Given the description of an element on the screen output the (x, y) to click on. 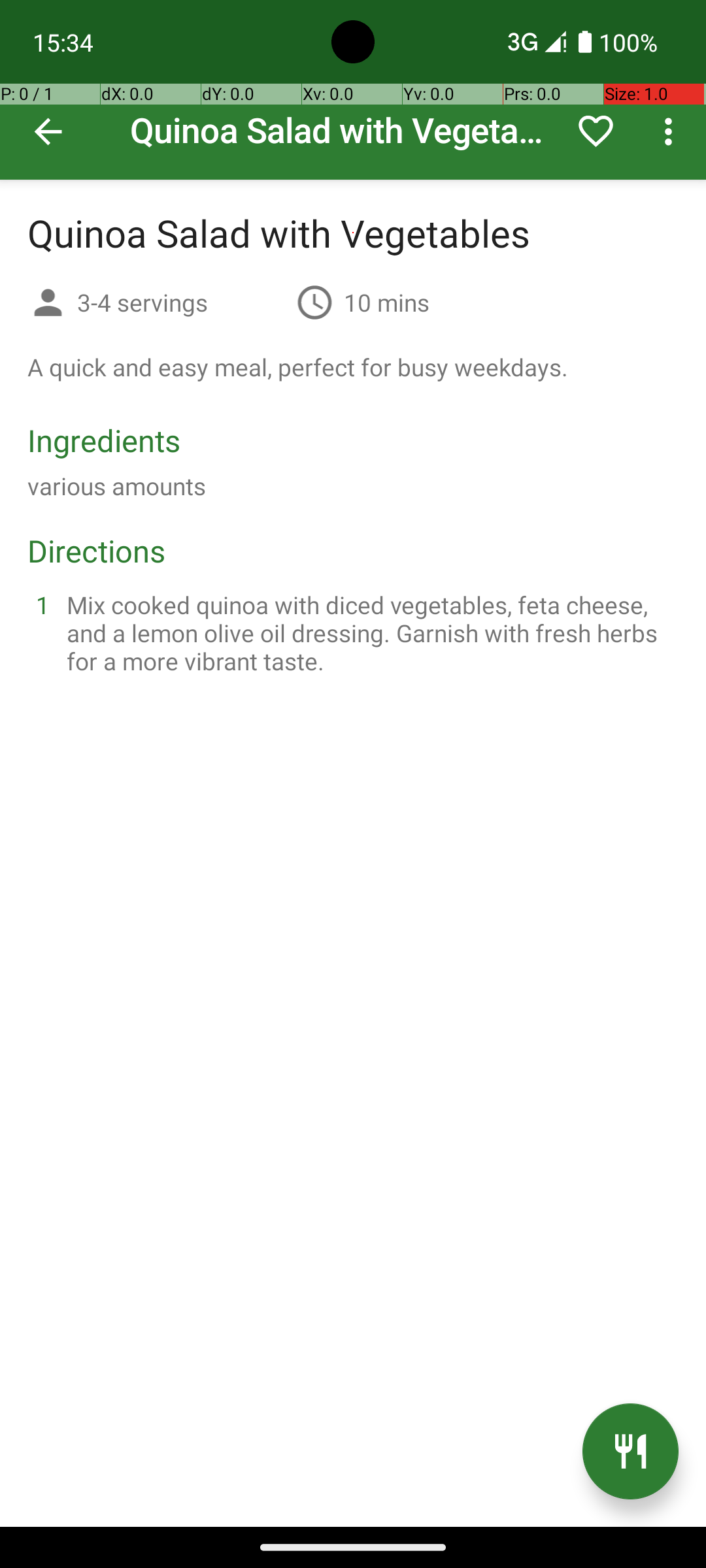
Quinoa Salad with Vegetables Element type: android.widget.FrameLayout (353, 89)
Cook Element type: android.widget.ImageButton (630, 1451)
Recipe photo Element type: android.widget.ImageView (353, 89)
Mark as favorite Element type: android.widget.Button (595, 131)
Servings Element type: android.widget.ImageView (47, 303)
3-4 servings Element type: android.widget.TextView (181, 301)
10 mins Element type: android.widget.TextView (386, 301)
A quick and easy meal, perfect for busy weekdays. Element type: android.widget.TextView (297, 366)
various amounts Element type: android.widget.TextView (116, 485)
Directions Element type: android.widget.TextView (96, 550)
Mix cooked quinoa with diced vegetables, feta cheese, and a lemon olive oil dressing. Garnish with fresh herbs for a more vibrant taste. Element type: android.widget.TextView (368, 632)
